Given the description of an element on the screen output the (x, y) to click on. 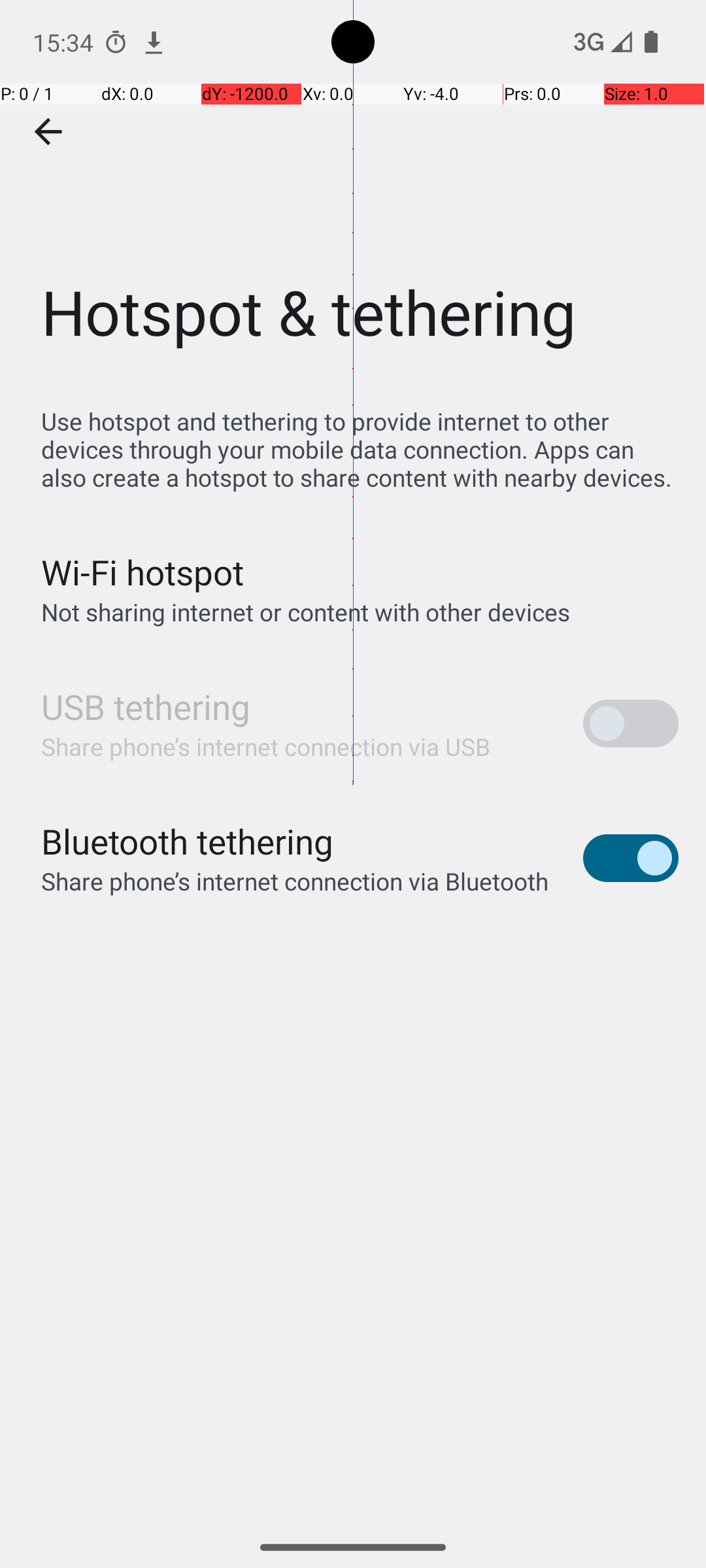
Use hotspot and tethering to provide internet to other devices through your mobile data connection. Apps can also create a hotspot to share content with nearby devices. Element type: android.widget.TextView (359, 448)
Wi‑Fi hotspot Element type: android.widget.TextView (142, 571)
Not sharing internet or content with other devices Element type: android.widget.TextView (305, 611)
USB tethering Element type: android.widget.TextView (145, 706)
Share phone’s internet connection via USB Element type: android.widget.TextView (265, 746)
Bluetooth tethering Element type: android.widget.TextView (187, 840)
Share phone’s internet connection via Bluetooth Element type: android.widget.TextView (294, 880)
